Given the description of an element on the screen output the (x, y) to click on. 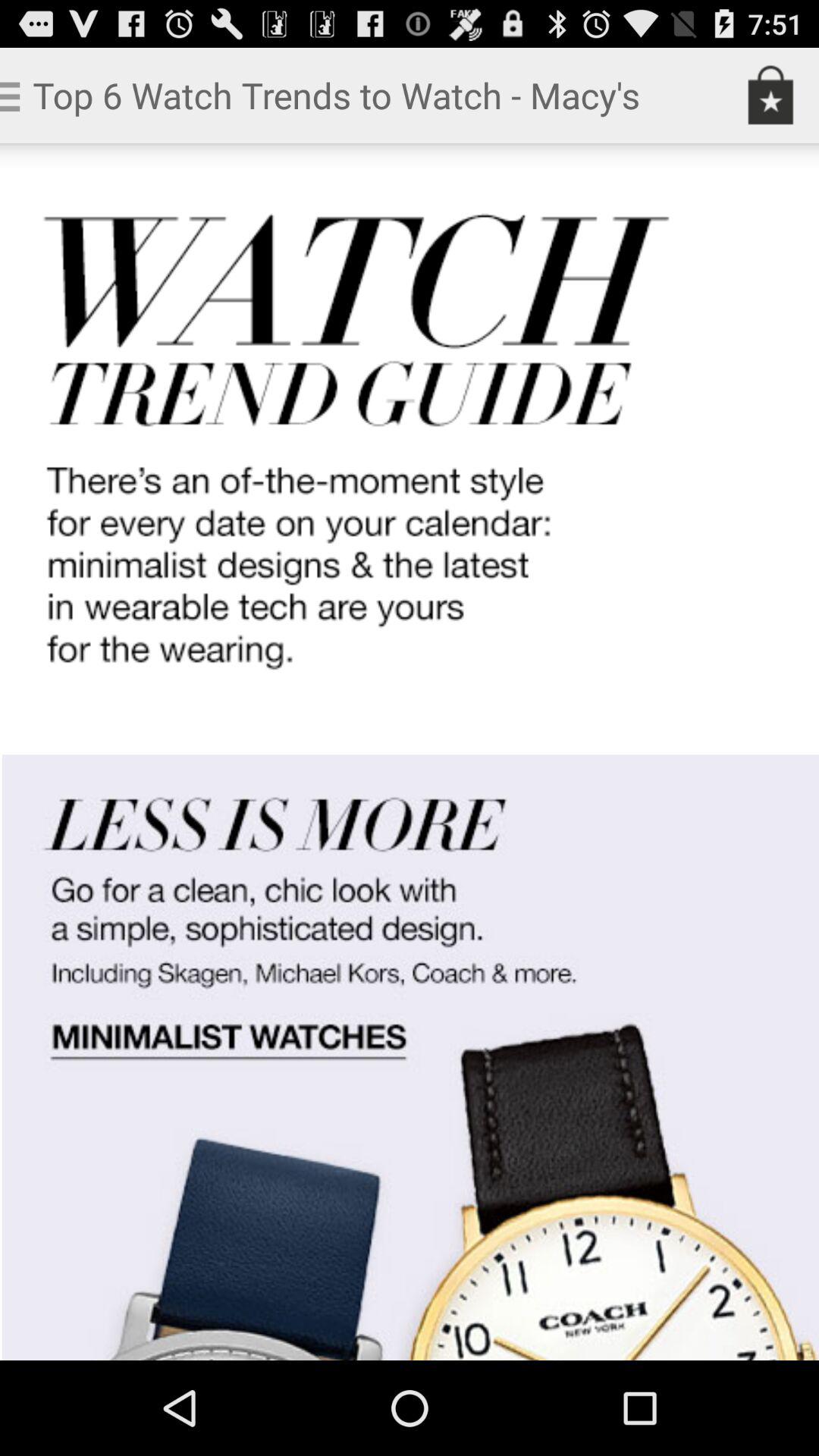
open link to minimalist watches (409, 751)
